Given the description of an element on the screen output the (x, y) to click on. 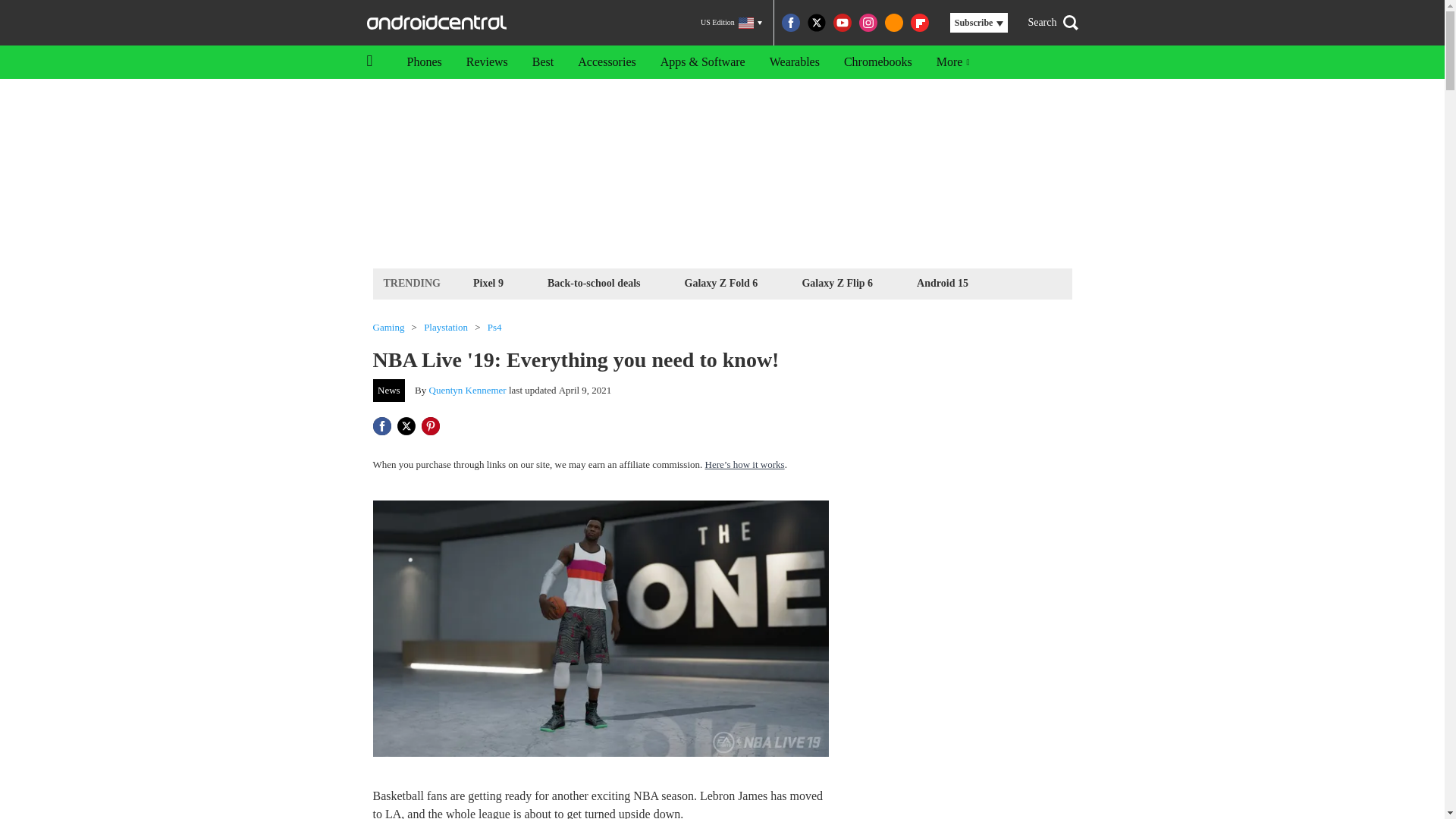
Chromebooks (877, 61)
Back-to-school deals (593, 282)
Accessories (606, 61)
Phones (423, 61)
Android 15 (942, 282)
Reviews (486, 61)
US Edition (731, 22)
Quentyn Kennemer (467, 389)
Best (542, 61)
News (389, 390)
